Given the description of an element on the screen output the (x, y) to click on. 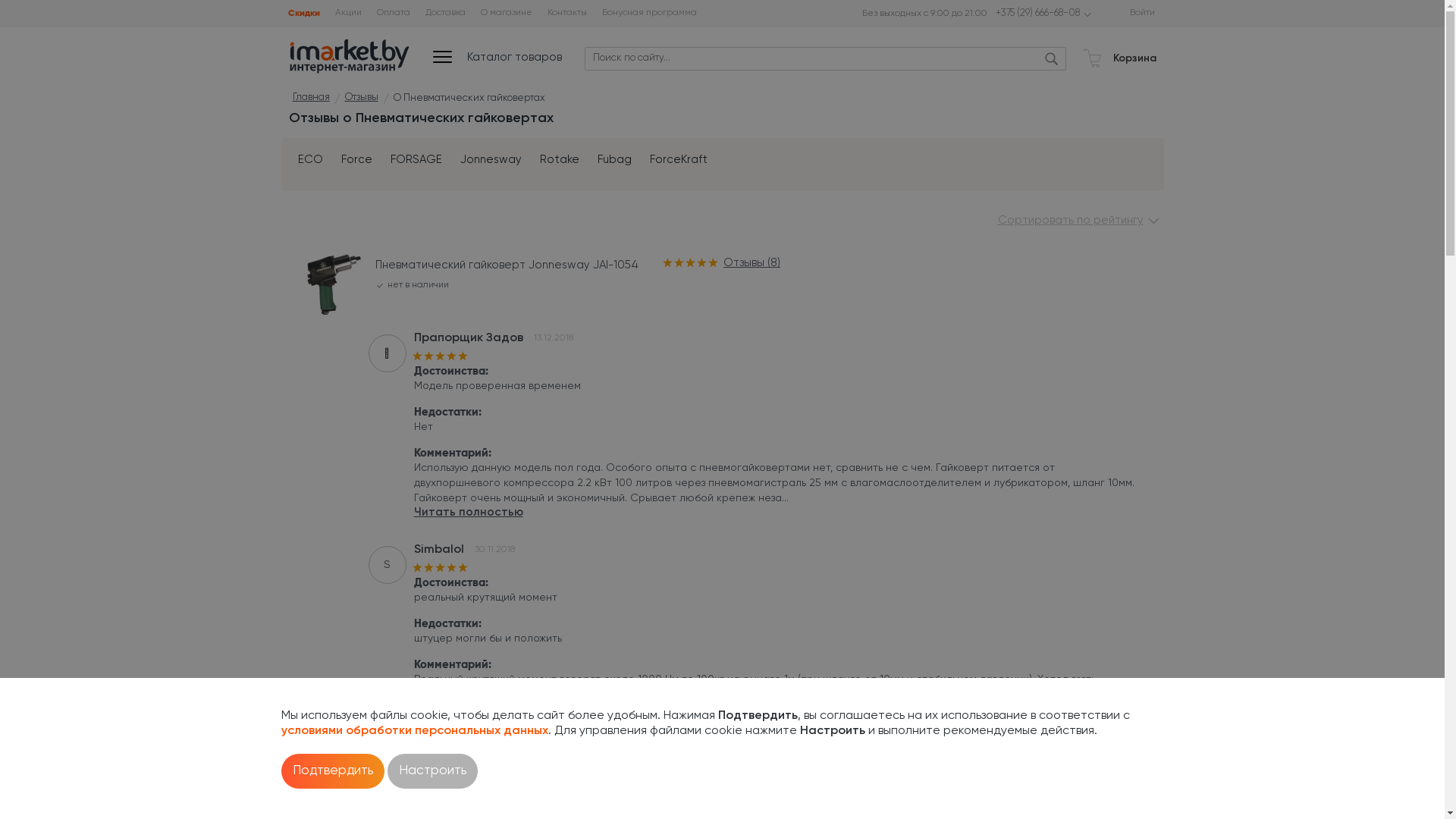
FORSAGE Element type: text (415, 159)
Force Element type: text (356, 159)
ForceKraft Element type: text (677, 159)
Rotake Element type: text (559, 159)
Fubag Element type: text (614, 159)
ECO Element type: text (309, 159)
Imarket.by Element type: hover (348, 54)
Jonnesway Element type: text (490, 159)
